Given the description of an element on the screen output the (x, y) to click on. 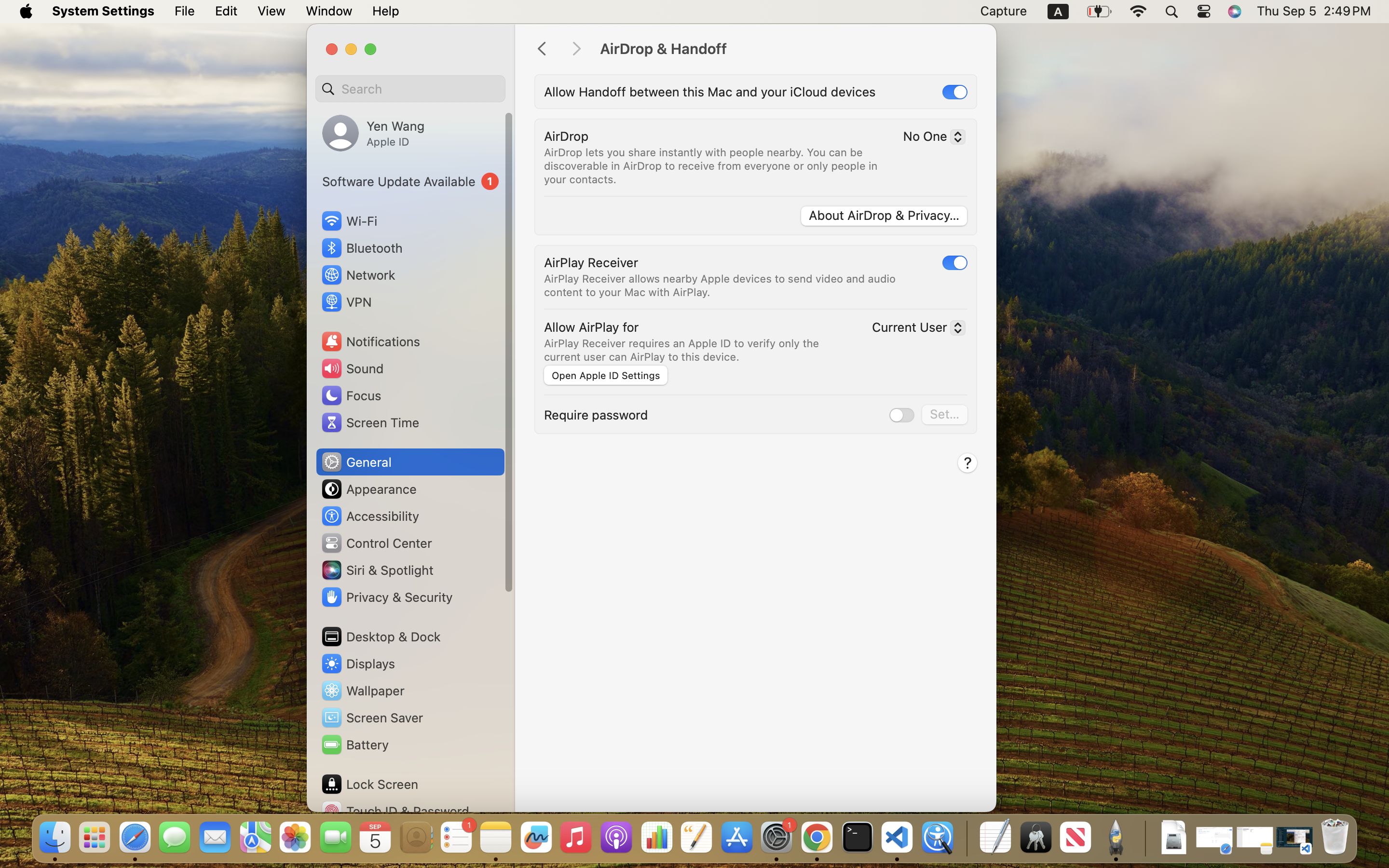
AirDrop lets you share instantly with people nearby. You can be discoverable in AirDrop to receive from everyone or only people in your contacts. Element type: AXStaticText (712, 165)
Accessibility Element type: AXStaticText (369, 515)
Wallpaper Element type: AXStaticText (362, 690)
Screen Saver Element type: AXStaticText (371, 717)
